Given the description of an element on the screen output the (x, y) to click on. 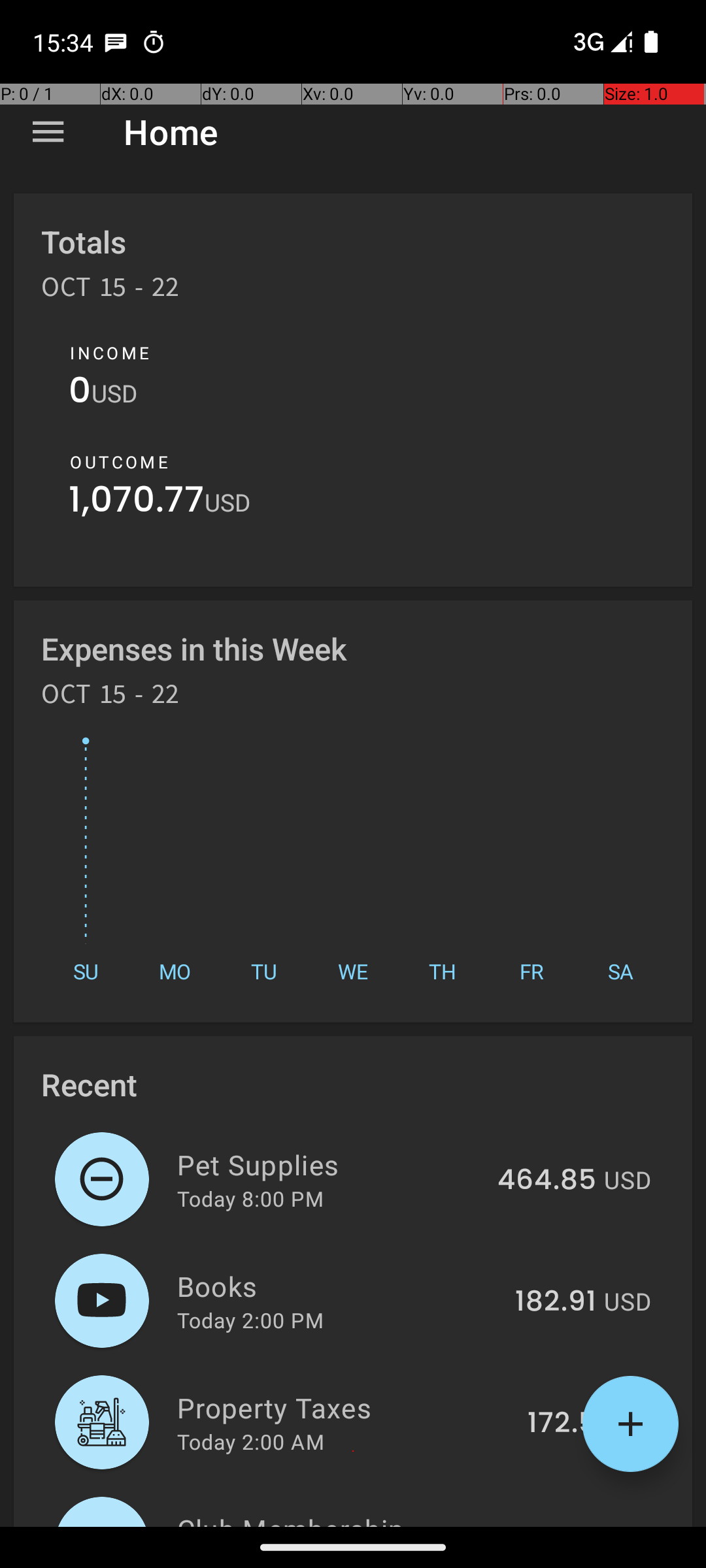
1,070.77 Element type: android.widget.TextView (136, 502)
Pet Supplies Element type: android.widget.TextView (329, 1164)
464.85 Element type: android.widget.TextView (546, 1180)
Books Element type: android.widget.TextView (338, 1285)
182.91 Element type: android.widget.TextView (555, 1301)
Property Taxes Element type: android.widget.TextView (344, 1407)
Today 2:00 AM Element type: android.widget.TextView (250, 1441)
172.5 Element type: android.widget.TextView (561, 1423)
Club Membership Element type: android.widget.TextView (334, 1518)
250.51 Element type: android.widget.TextView (551, 1524)
